Given the description of an element on the screen output the (x, y) to click on. 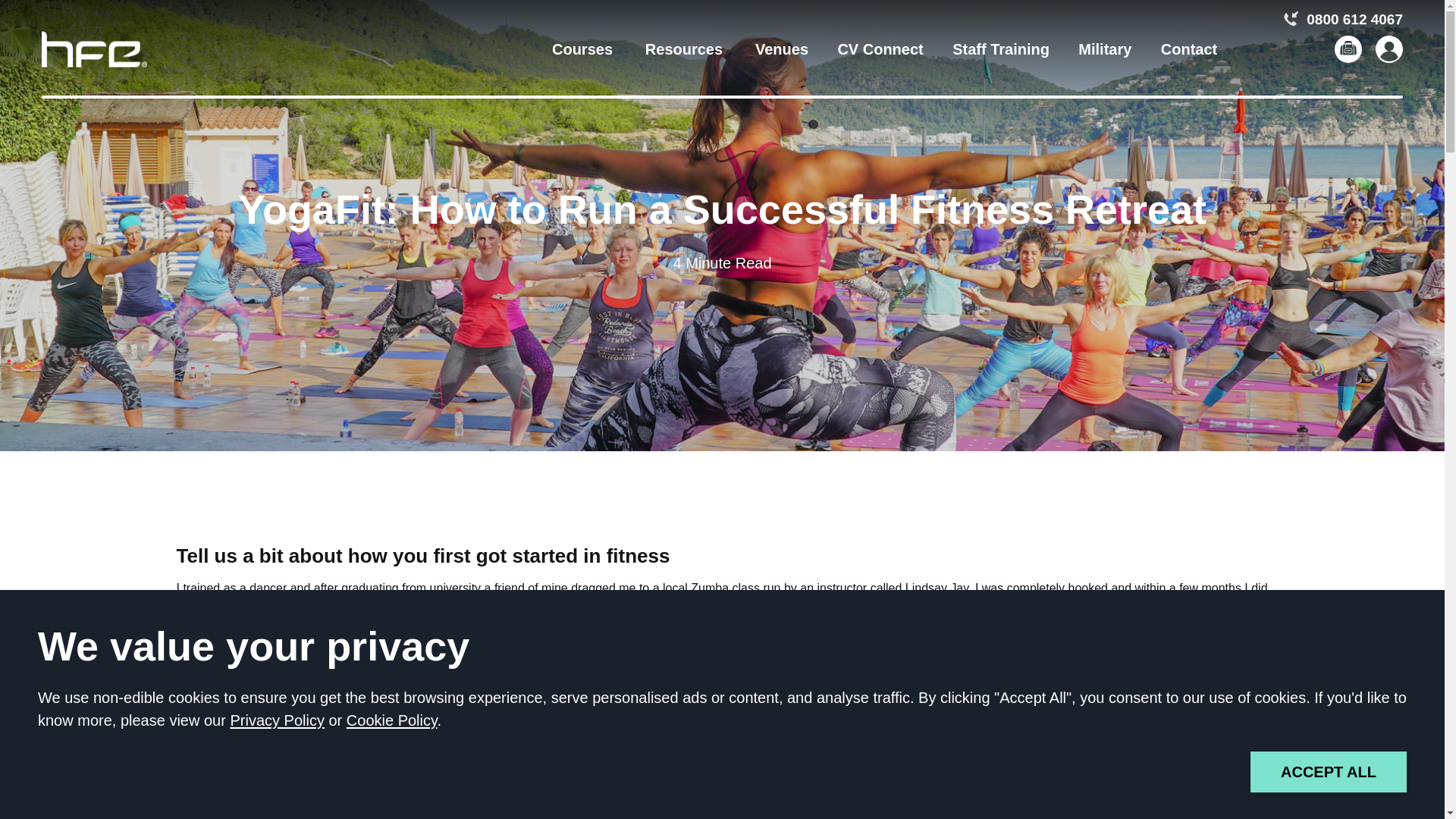
Student login (1389, 49)
0800 612 4067 (1343, 18)
Courses (581, 48)
